Given the description of an element on the screen output the (x, y) to click on. 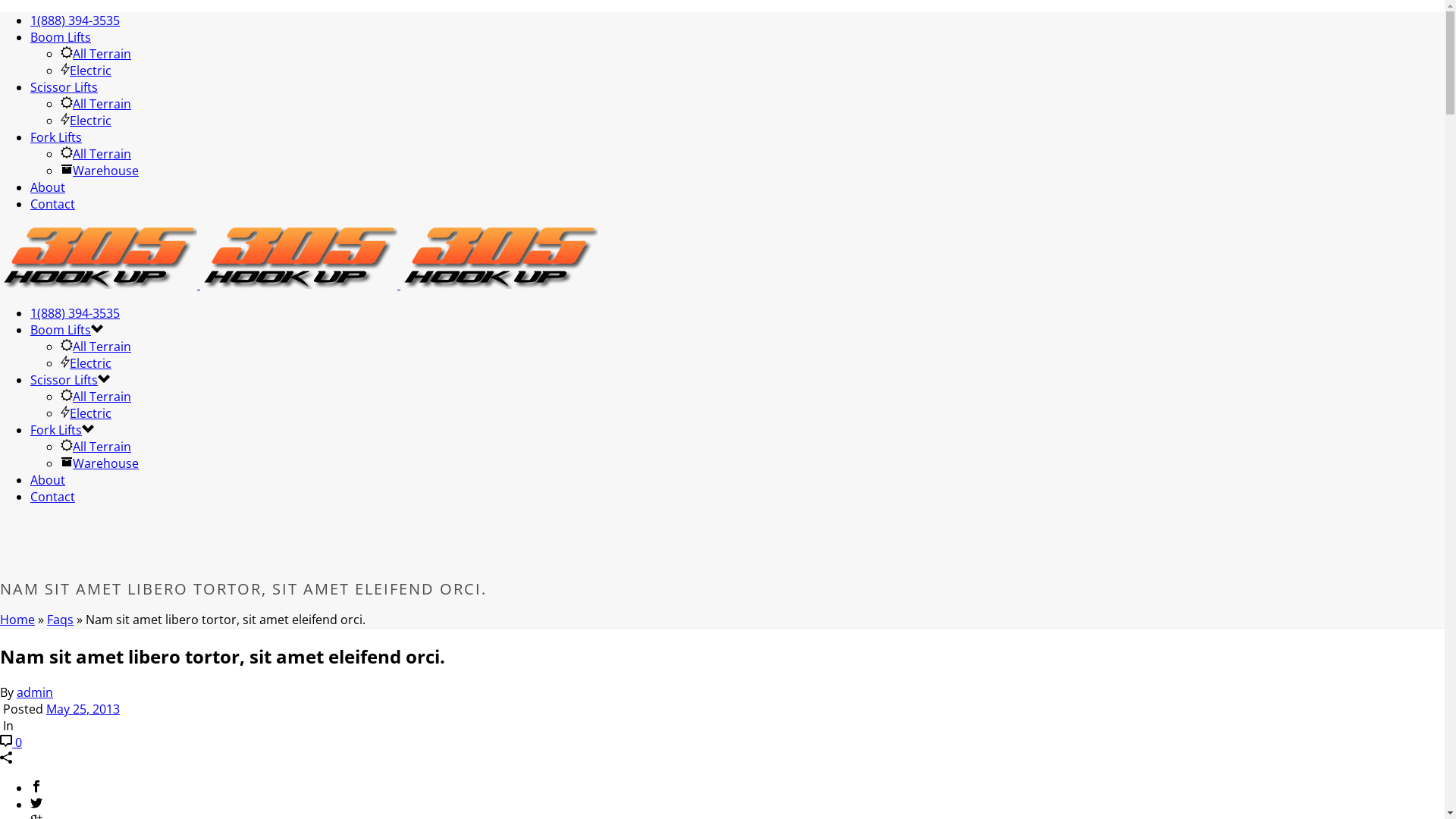
All Terrain Element type: text (95, 346)
Warehouse Element type: text (99, 170)
Electric Element type: text (85, 412)
Scissor Lifts Element type: text (63, 379)
Warehouse Element type: text (99, 463)
All Terrain Element type: text (95, 446)
Fork Lifts Element type: text (55, 136)
Boom Lifts Element type: text (60, 36)
Electric Element type: text (85, 362)
Scissor Lifts Element type: text (63, 86)
All Terrain Element type: text (95, 103)
About Element type: text (47, 479)
Contact Element type: text (52, 203)
Home Element type: text (17, 619)
May 25, 2013 Element type: text (82, 708)
Contact Element type: text (52, 496)
All Terrain Element type: text (95, 153)
Fork Lifts Element type: text (55, 429)
Electric Element type: text (85, 70)
0 Element type: text (10, 742)
About Element type: text (47, 186)
1(888) 394-3535 Element type: text (74, 20)
Electric Element type: text (85, 120)
All Terrain Element type: text (95, 396)
1(888) 394-3535 Element type: text (74, 312)
admin Element type: text (34, 692)
Boom Lifts Element type: text (60, 329)
All Terrain Element type: text (95, 53)
Faqs Element type: text (60, 619)
305hookup Element type: hover (298, 284)
